Given the description of an element on the screen output the (x, y) to click on. 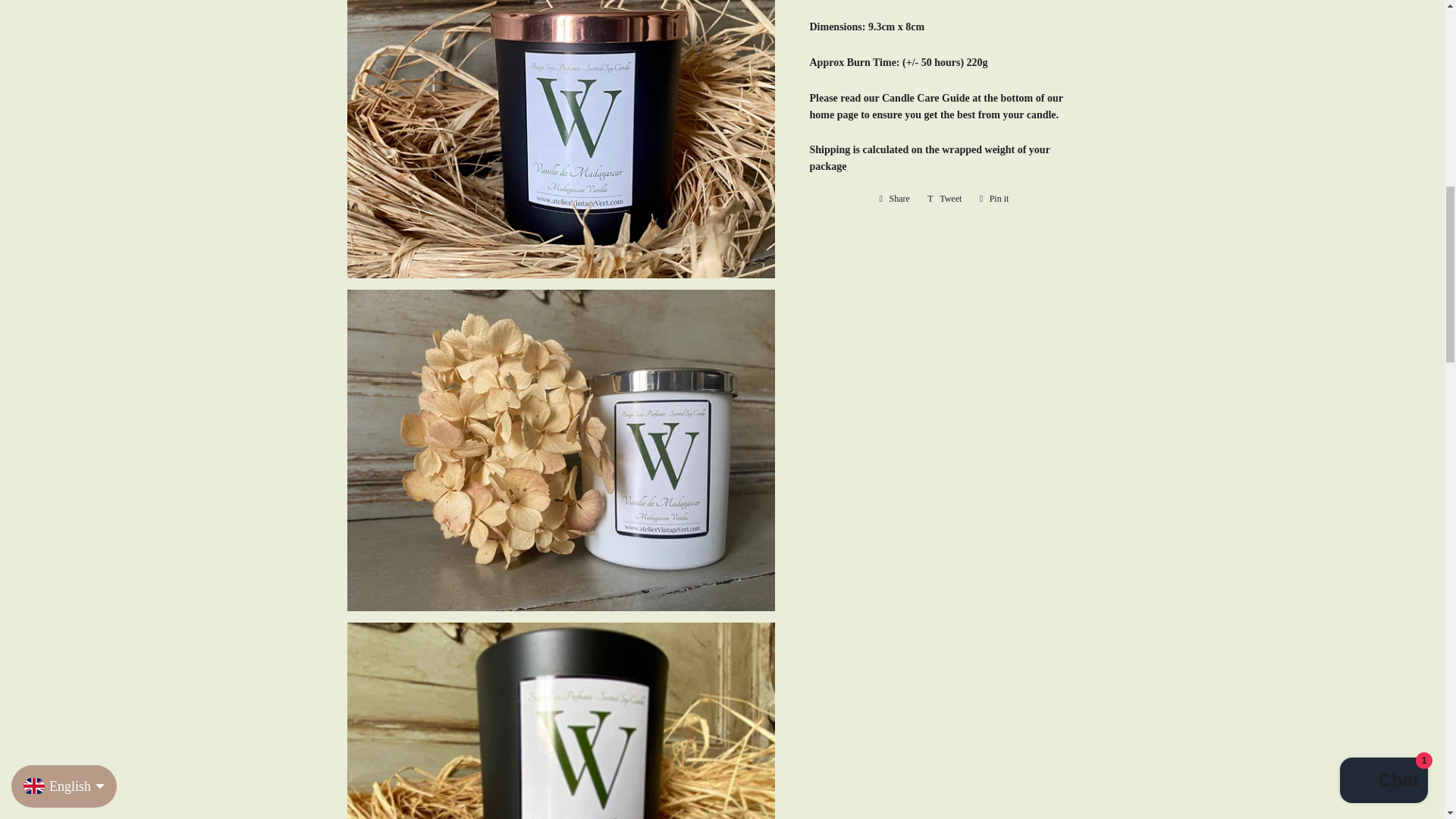
Tweet on Twitter (944, 198)
Share on Facebook (894, 198)
Pin on Pinterest (994, 198)
